Given the description of an element on the screen output the (x, y) to click on. 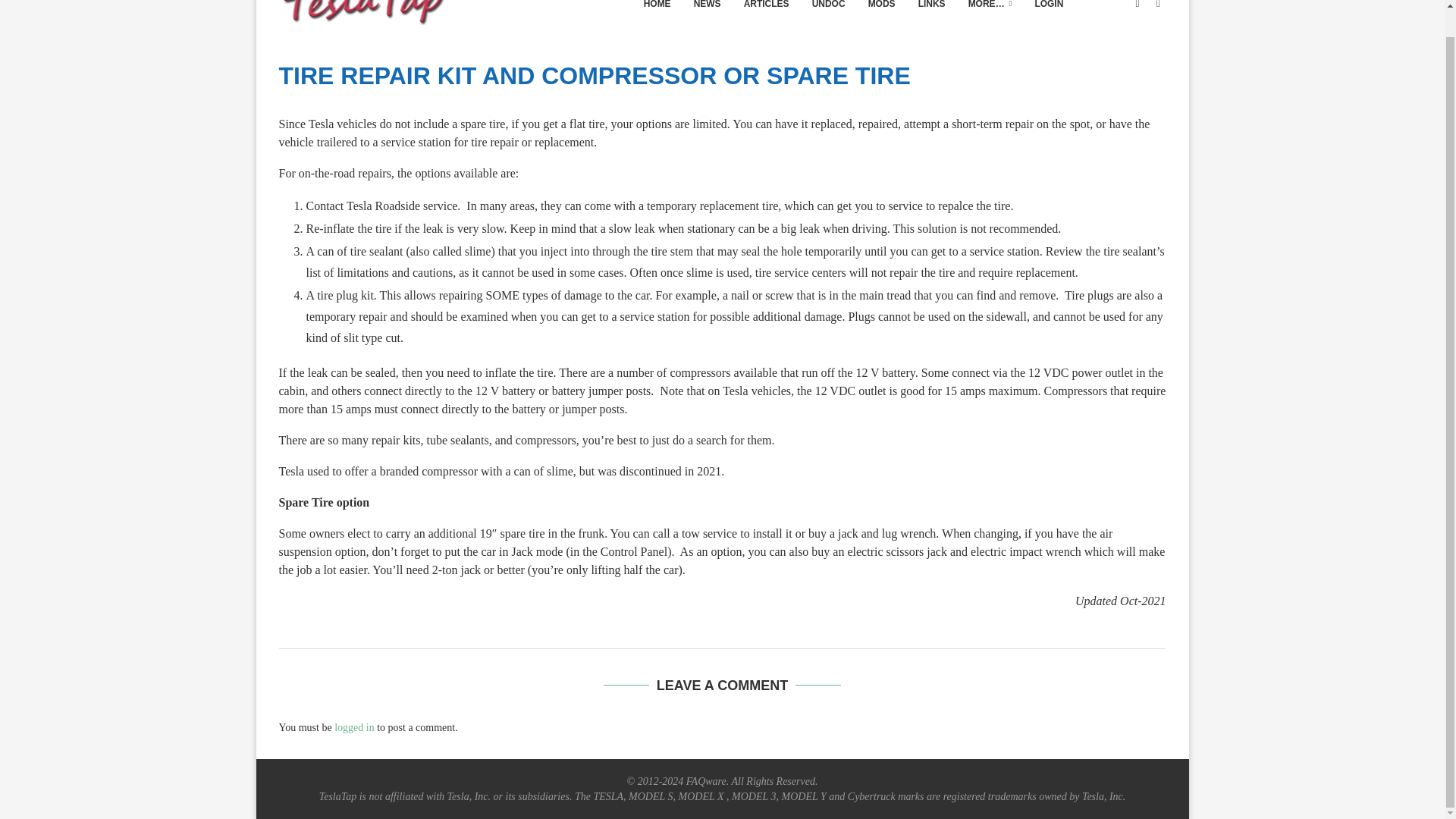
logged in (354, 727)
UNDOC (828, 17)
ARTICLES (766, 17)
